Given the description of an element on the screen output the (x, y) to click on. 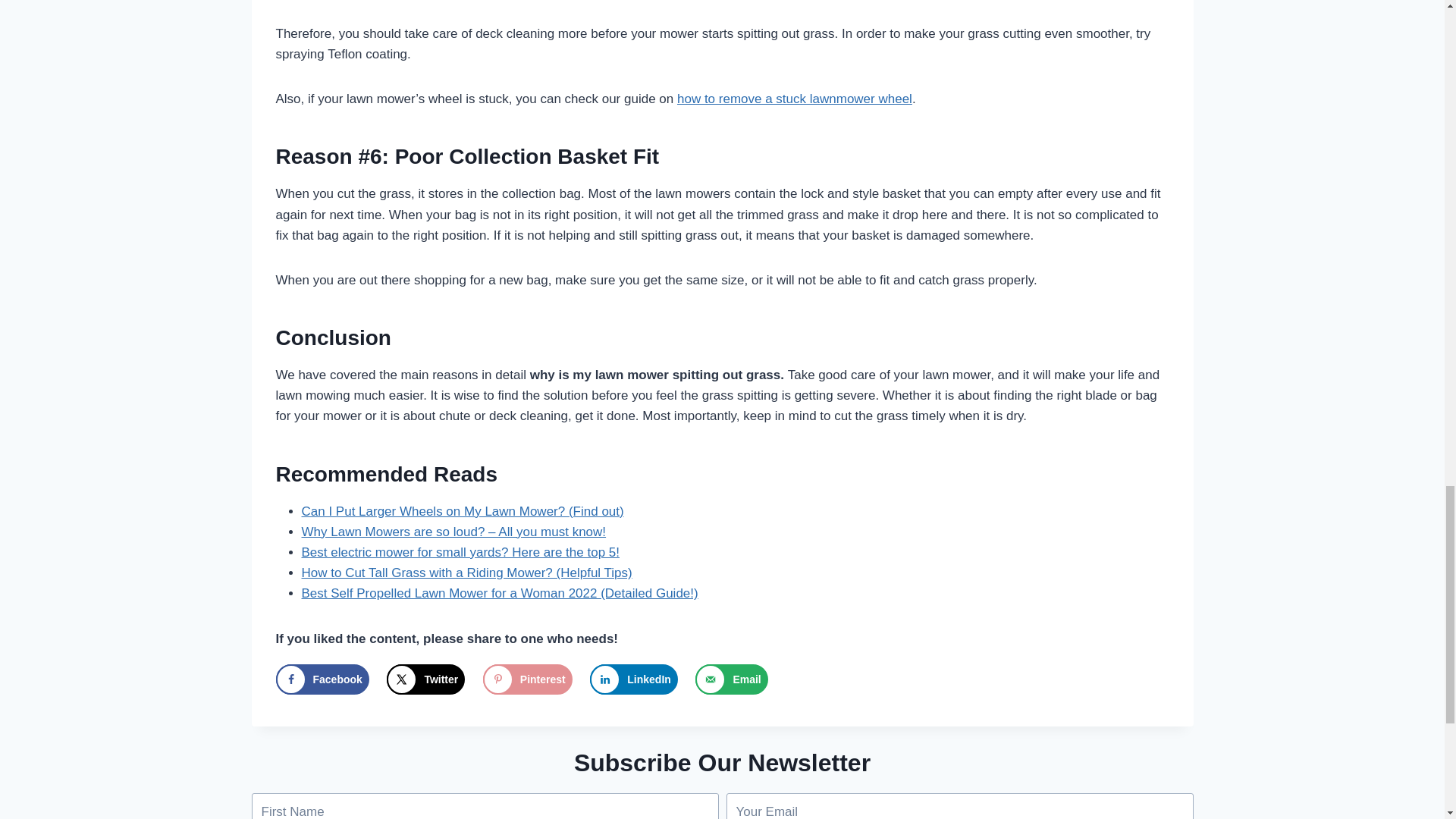
how to remove a stuck lawnmower wheel (794, 98)
LinkedIn (633, 679)
Share on LinkedIn (633, 679)
Send over email (731, 679)
Pinterest (527, 679)
Facebook (322, 679)
Email (731, 679)
Share on X (425, 679)
Best electric mower for small yards? Here are the top 5! (460, 552)
Save to Pinterest (527, 679)
Share on Facebook (322, 679)
Twitter (425, 679)
